Given the description of an element on the screen output the (x, y) to click on. 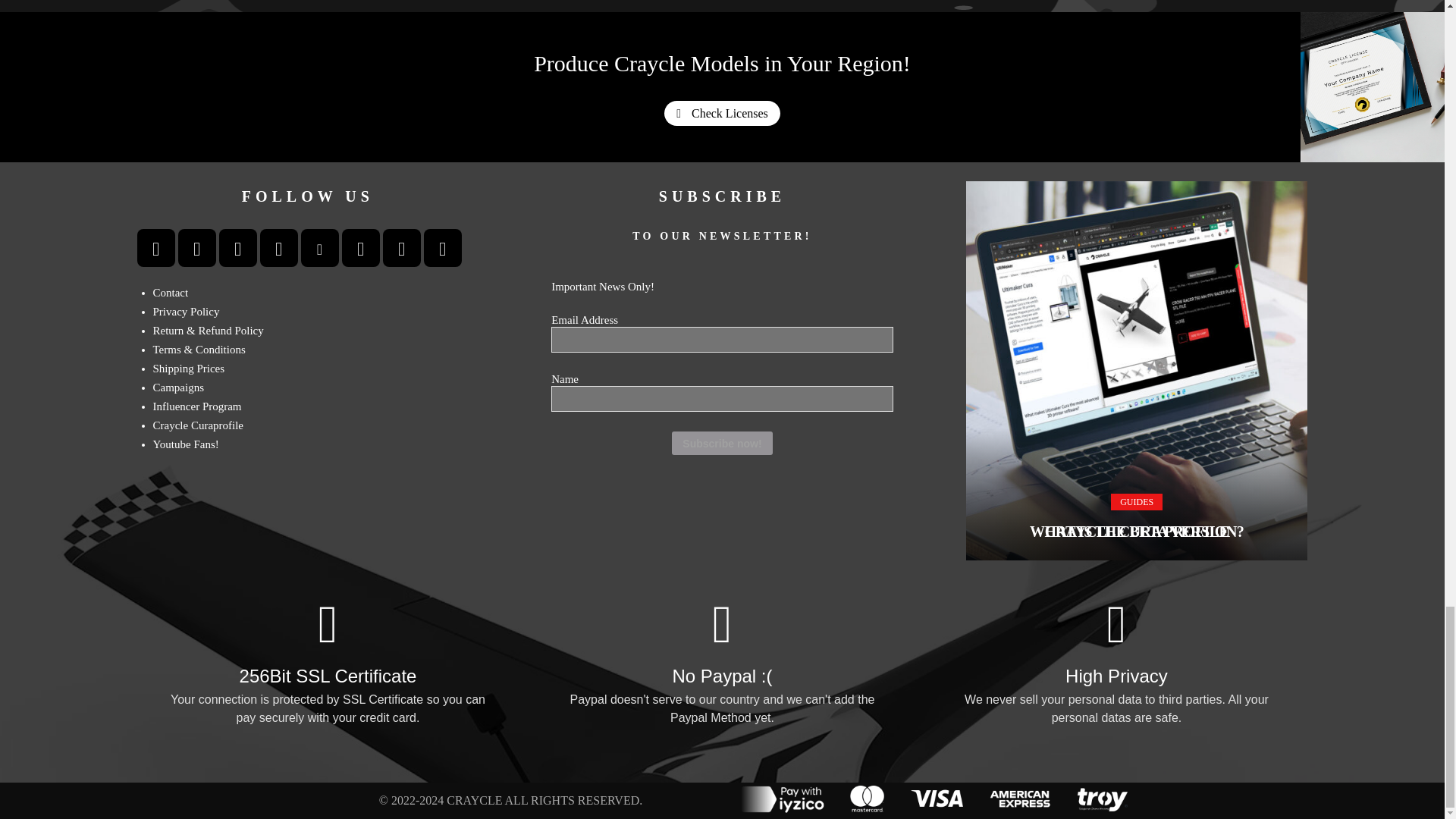
Subscribe now! (721, 443)
